Given the description of an element on the screen output the (x, y) to click on. 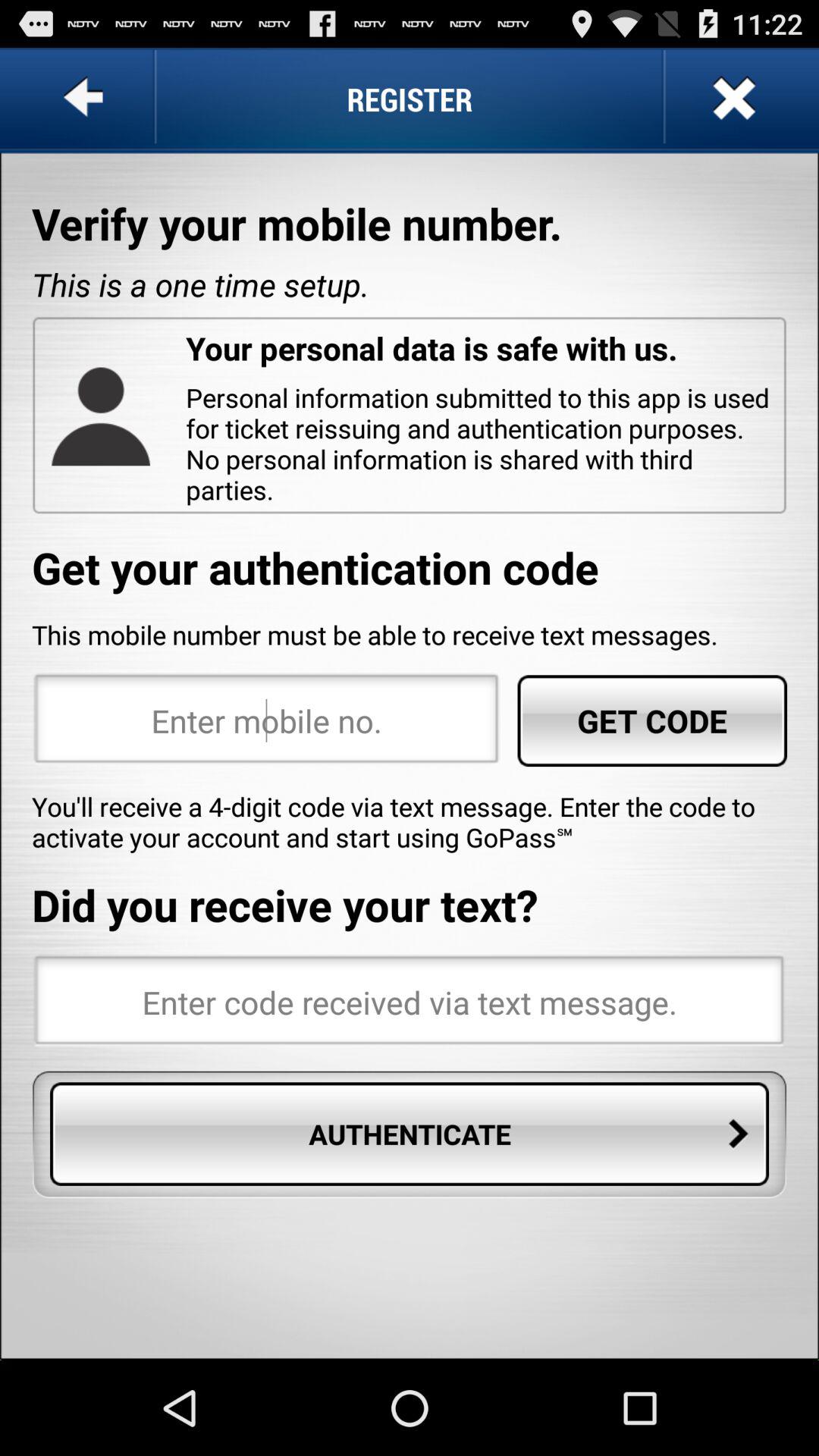
press icon above verify your mobile (86, 99)
